Given the description of an element on the screen output the (x, y) to click on. 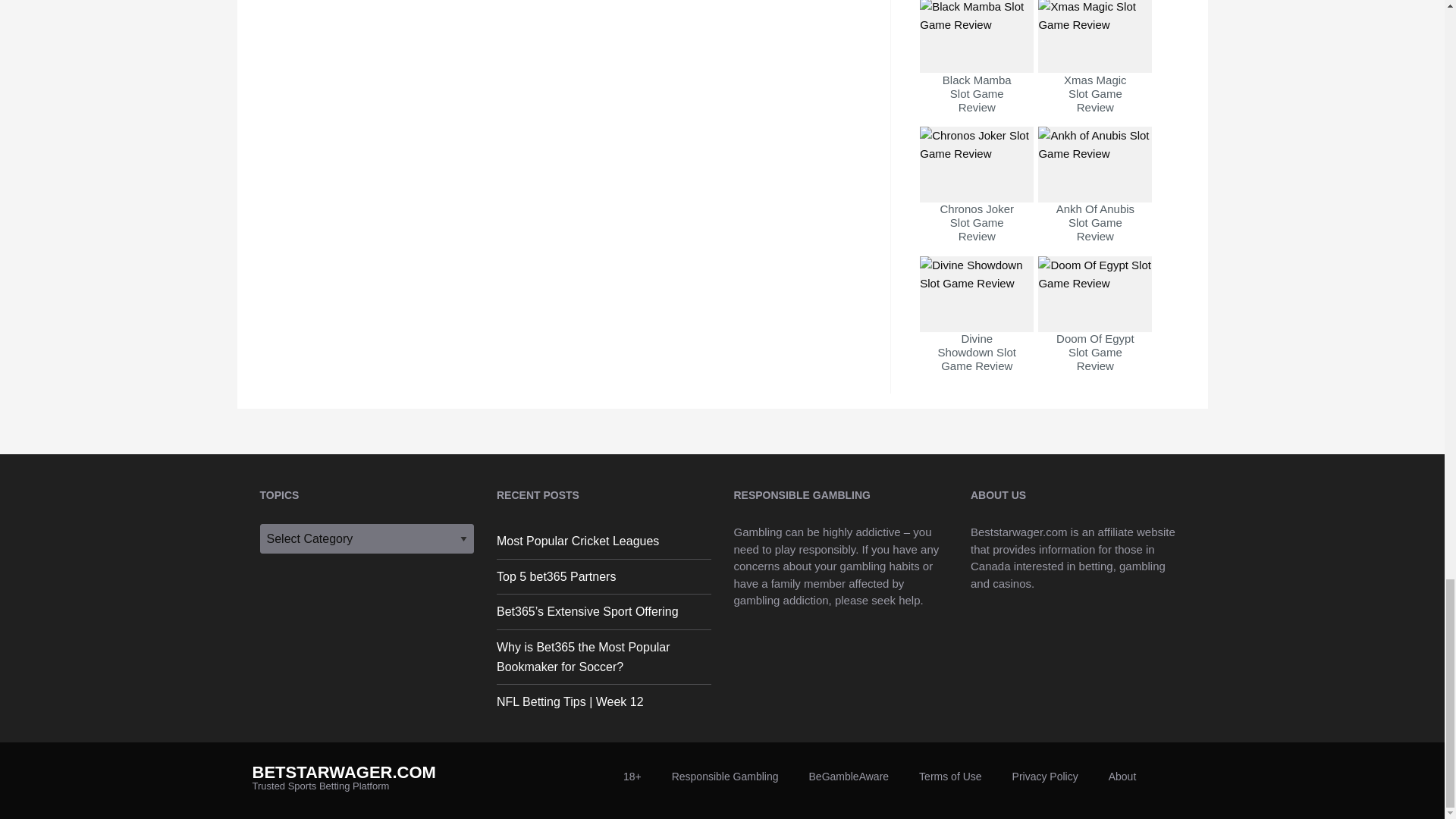
Xmas Magic Slot Game Review (1094, 70)
Chronos Joker Slot Game Review (976, 200)
Doom Of Egypt Slot Game Review (1094, 329)
Ankh of Anubis Slot Game Review (1094, 200)
Divine Showdown Slot Game Review (976, 329)
Black Mamba Slot Game Review (976, 70)
